Given the description of an element on the screen output the (x, y) to click on. 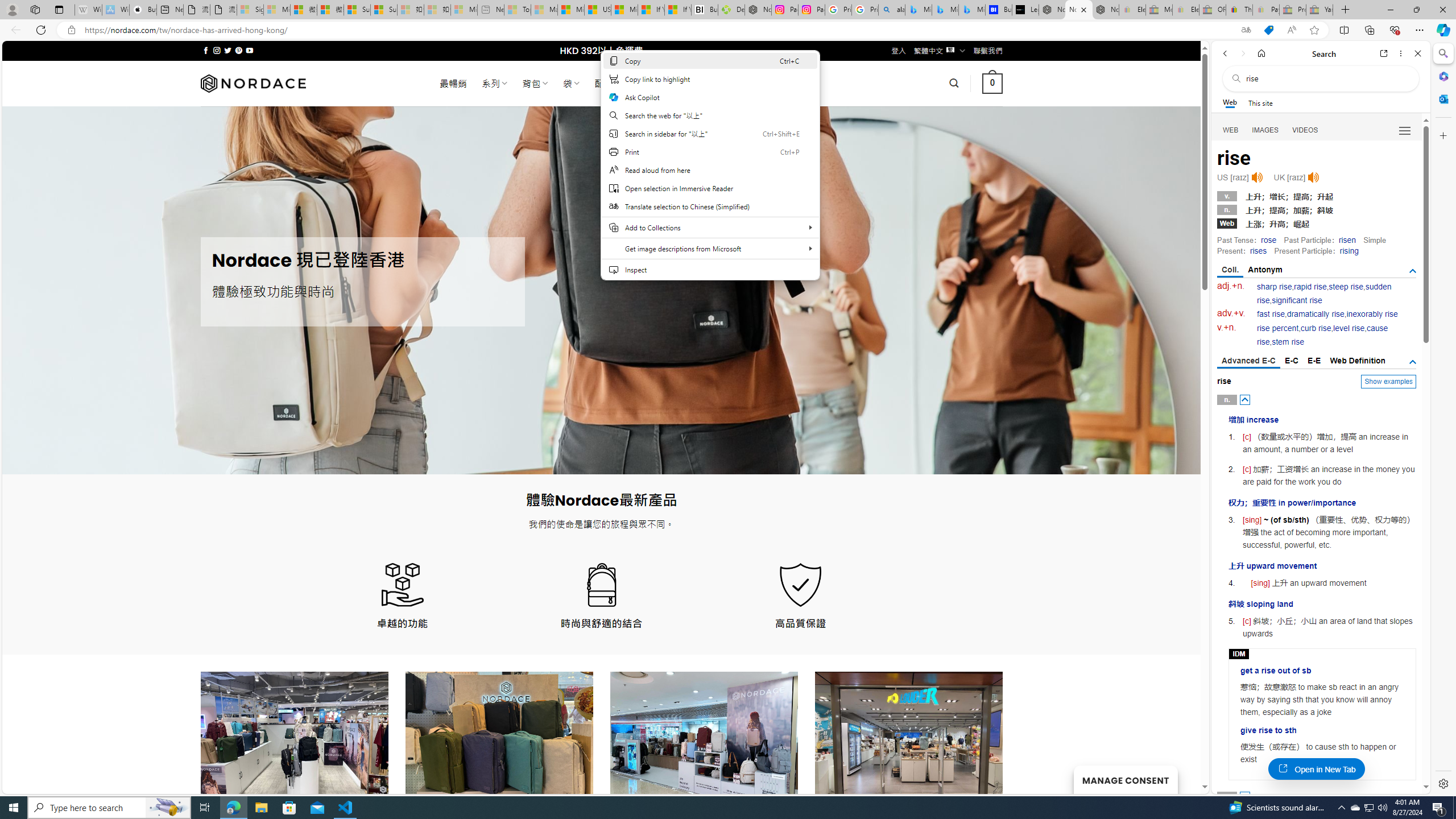
Web context (710, 171)
Ask Copilot (710, 97)
Translate selection to Chinese (Simplified) (710, 206)
Class: b_serphb (1404, 130)
Marine life - MSN - Sleeping (543, 9)
Microsoft Bing Travel - Shangri-La Hotel Bangkok (971, 9)
Microsoft account | Account Checkup - Sleeping (463, 9)
